Given the description of an element on the screen output the (x, y) to click on. 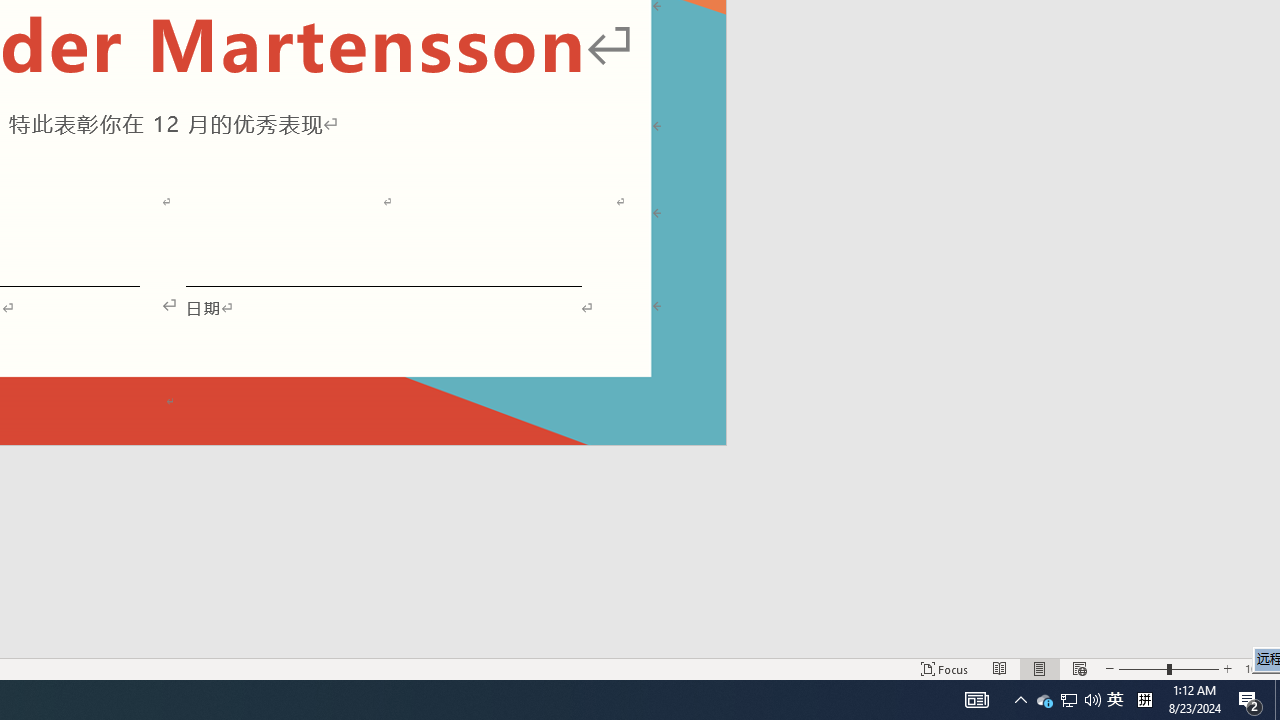
Zoom 100% (1258, 668)
Tray Input Indicator - Chinese (Simplified, China) (1144, 699)
AutomationID: 4105 (976, 699)
